Given the description of an element on the screen output the (x, y) to click on. 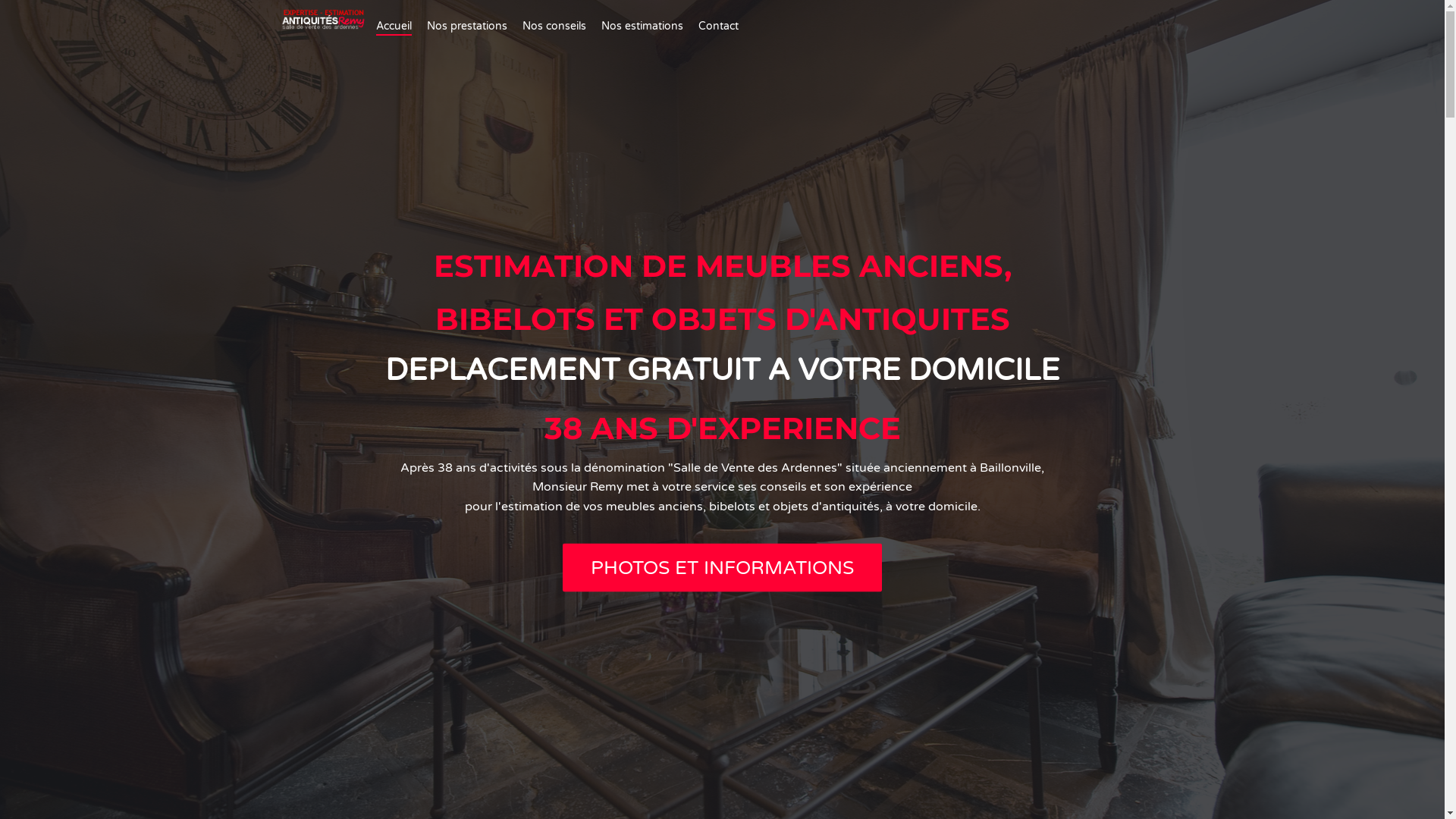
Nos estimations Element type: text (642, 27)
PHOTOS ET INFORMATIONS Element type: text (721, 566)
Accueil Element type: text (393, 27)
Contact Element type: text (718, 27)
Nos prestations Element type: text (466, 27)
Nos conseils Element type: text (554, 27)
